Given the description of an element on the screen output the (x, y) to click on. 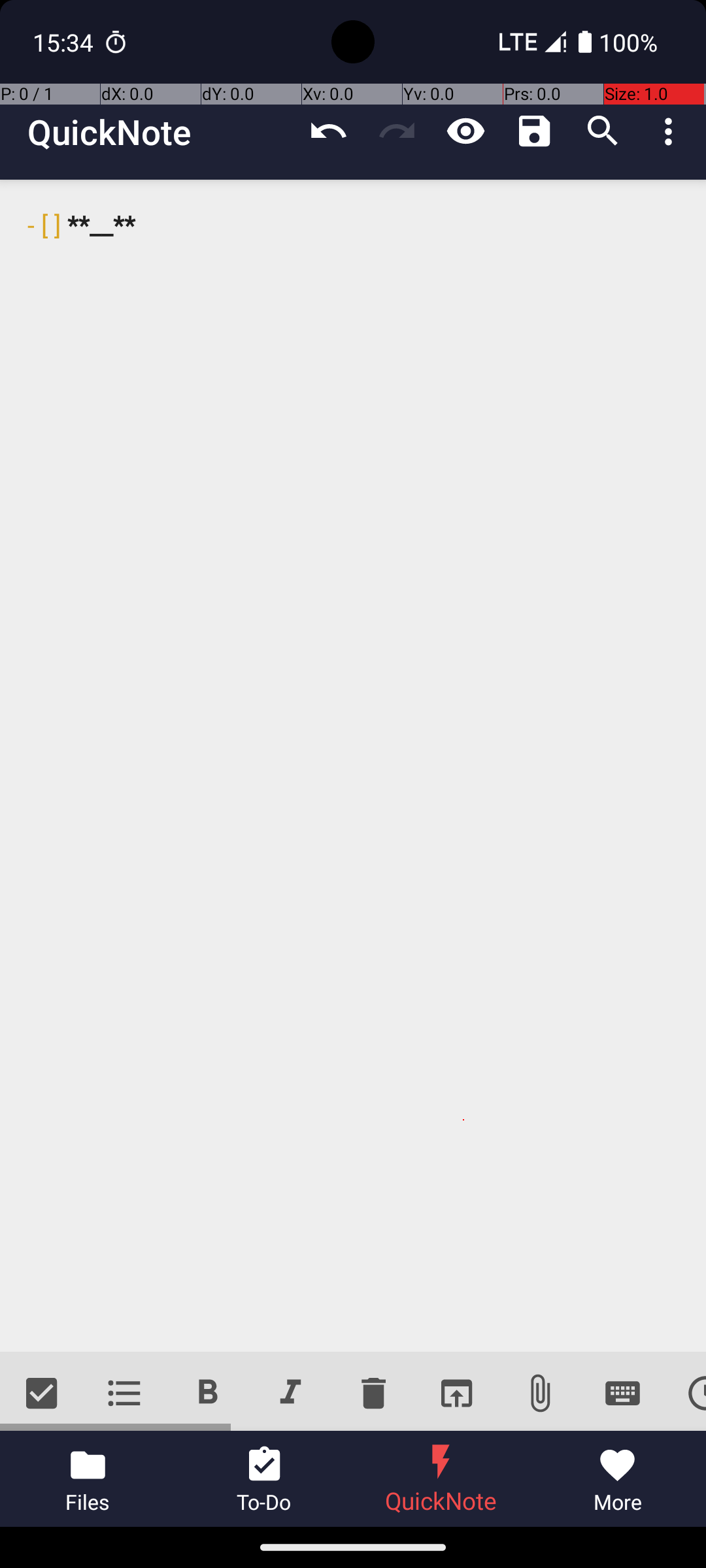
- [ ] **__** Element type: android.widget.EditText (353, 765)
